Given the description of an element on the screen output the (x, y) to click on. 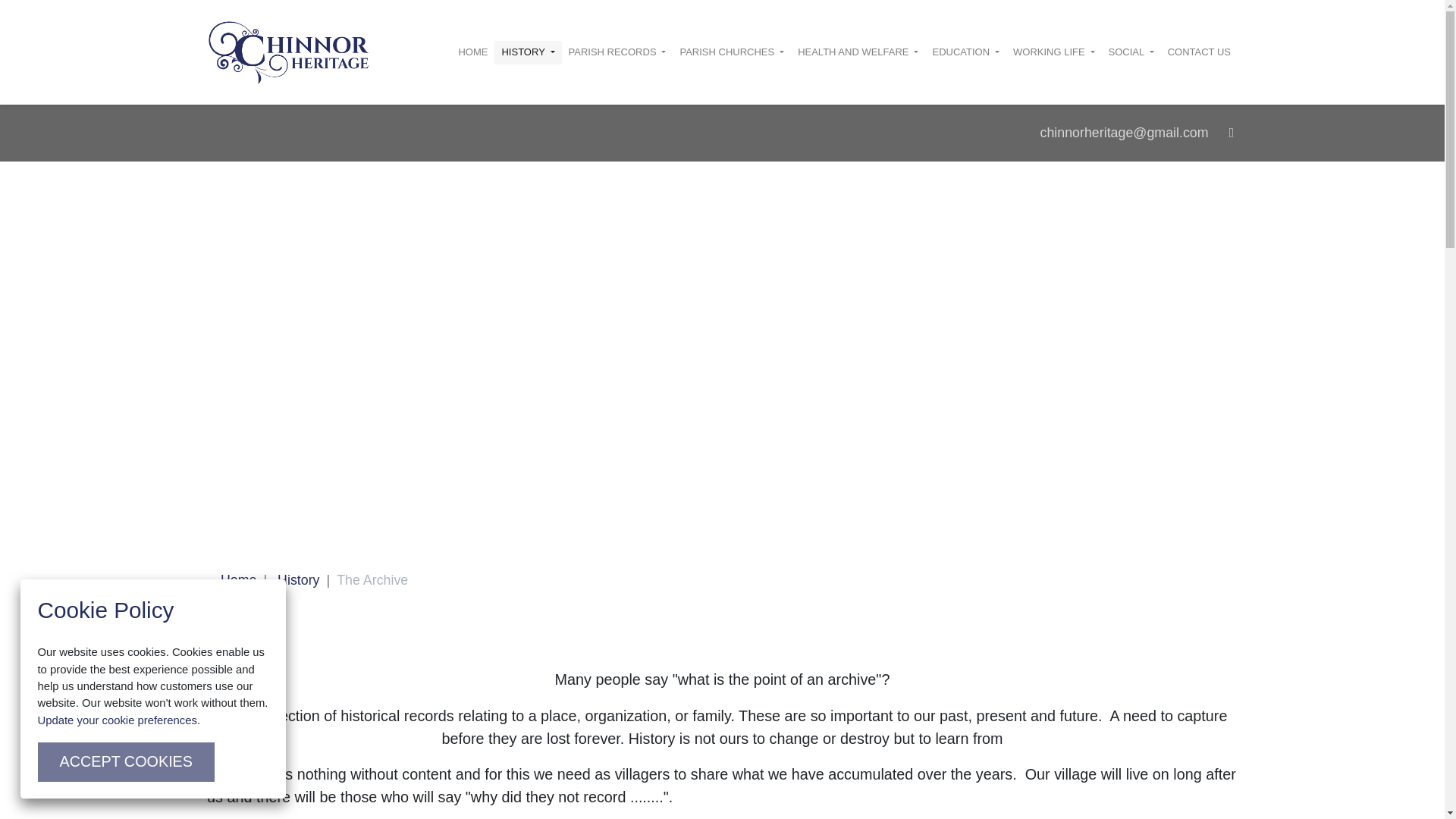
EDUCATION (965, 52)
PARISH RECORDS (616, 52)
ACCEPT COOKIES (126, 762)
WORKING LIFE (1054, 52)
HEALTH AND WELFARE (857, 52)
Skip to main content (20, 20)
PARISH CHURCHES (731, 52)
HISTORY (527, 52)
HOME (473, 52)
Update your cookie preferences (116, 720)
